Given the description of an element on the screen output the (x, y) to click on. 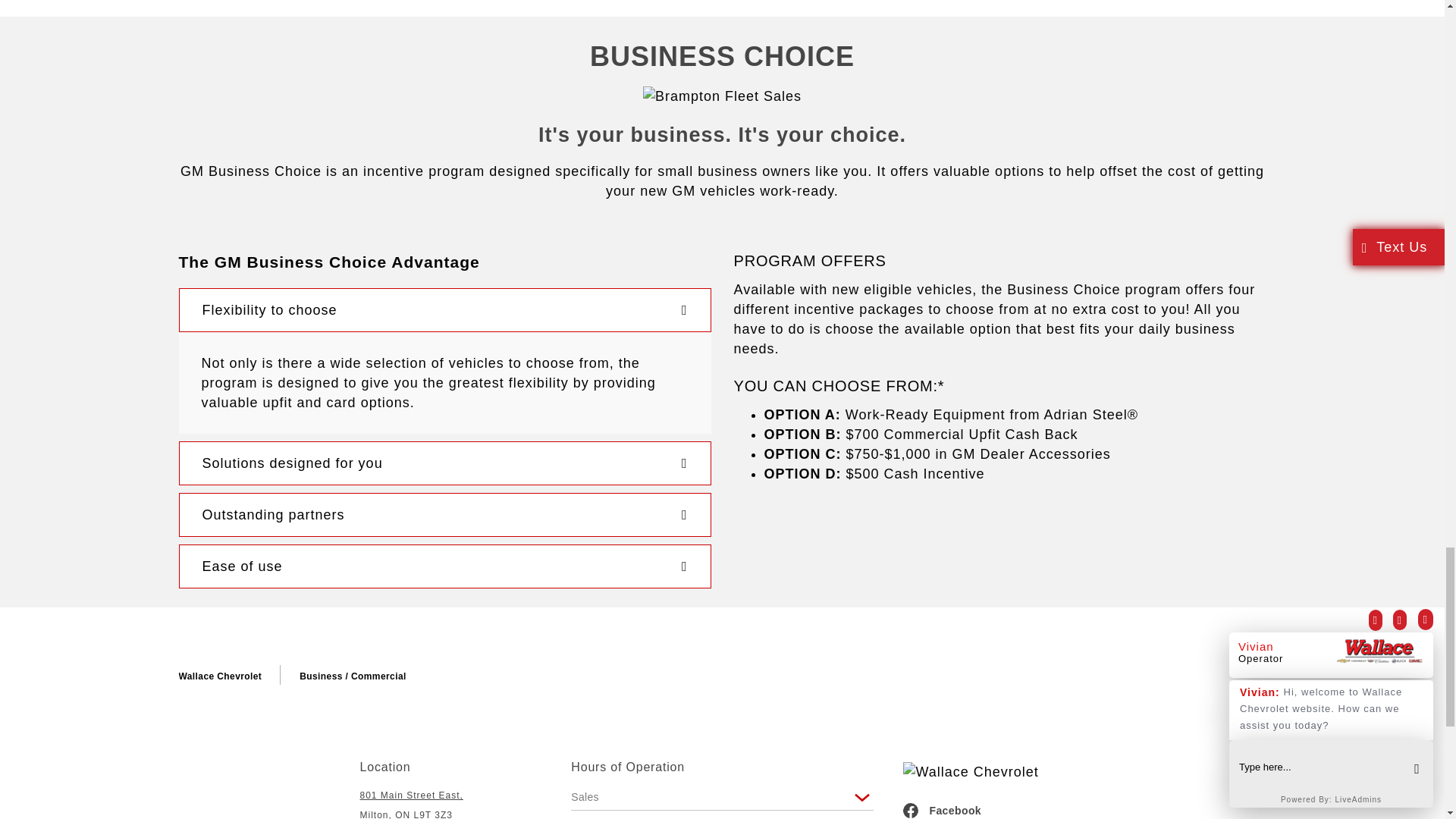
Go to Wallace Chevrolet. (220, 675)
